Given the description of an element on the screen output the (x, y) to click on. 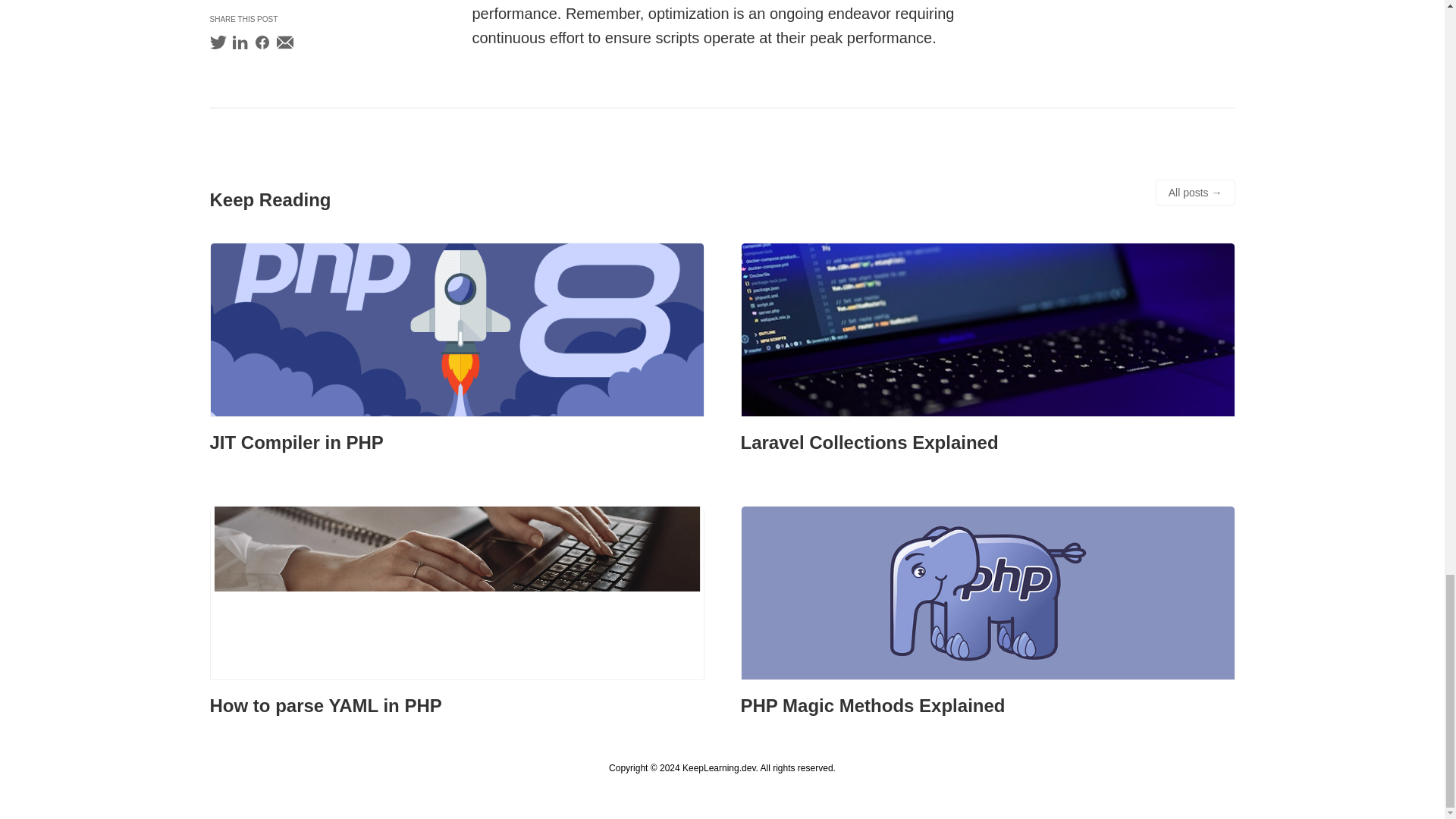
PHP Magic Methods Explained (871, 705)
PHP Magic Methods Explained (871, 705)
JIT Compiler in PHP (295, 442)
How to parse YAML in PHP (325, 705)
JIT Compiler in PHP (456, 331)
PHP Magic Methods Explained (986, 594)
Laravel Collections Explained (868, 442)
JIT Compiler in PHP (295, 442)
How to parse YAML in PHP (325, 705)
Laravel Collections Explained (868, 442)
